Given the description of an element on the screen output the (x, y) to click on. 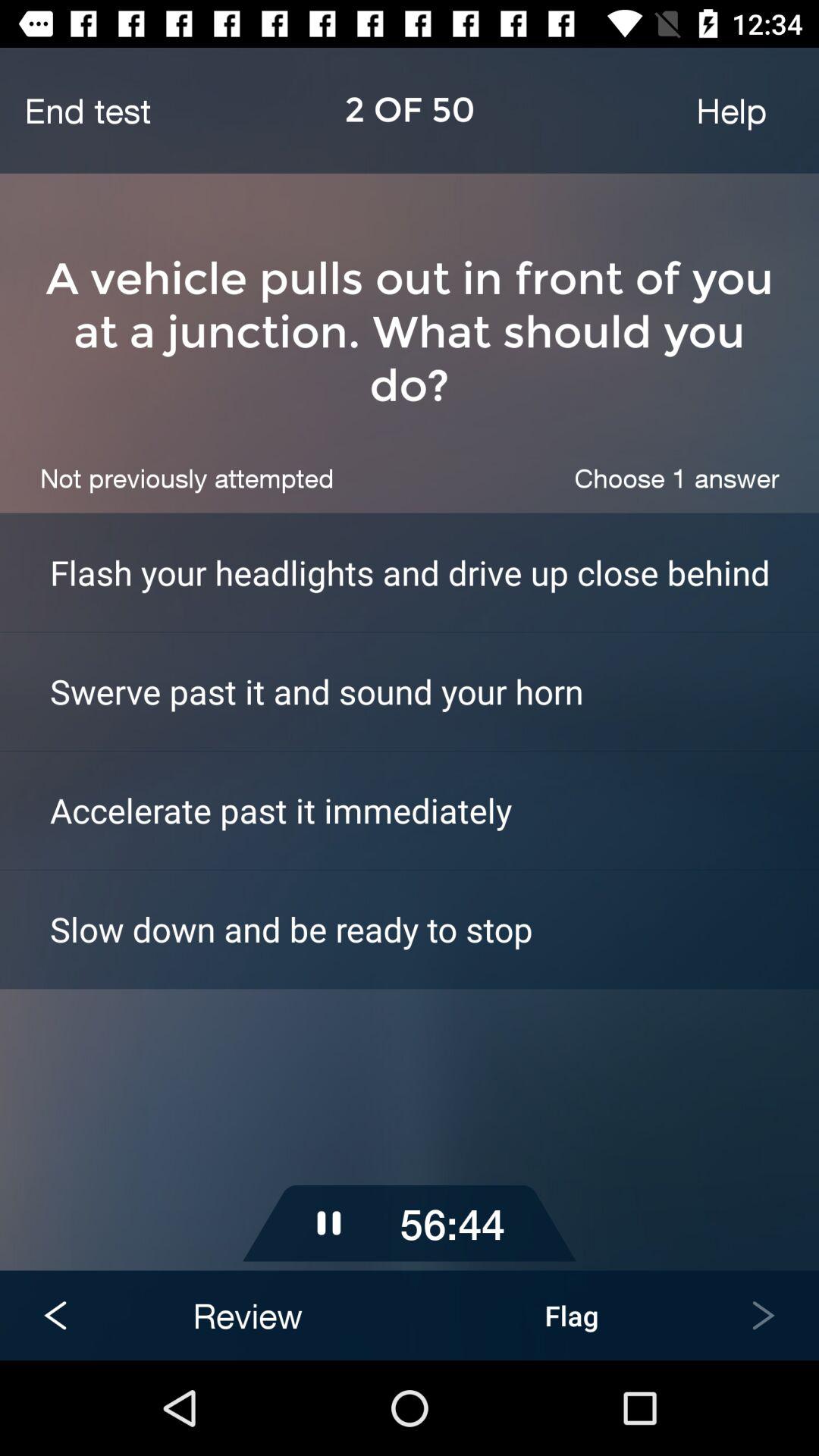
open item to the right of the end test icon (731, 110)
